Given the description of an element on the screen output the (x, y) to click on. 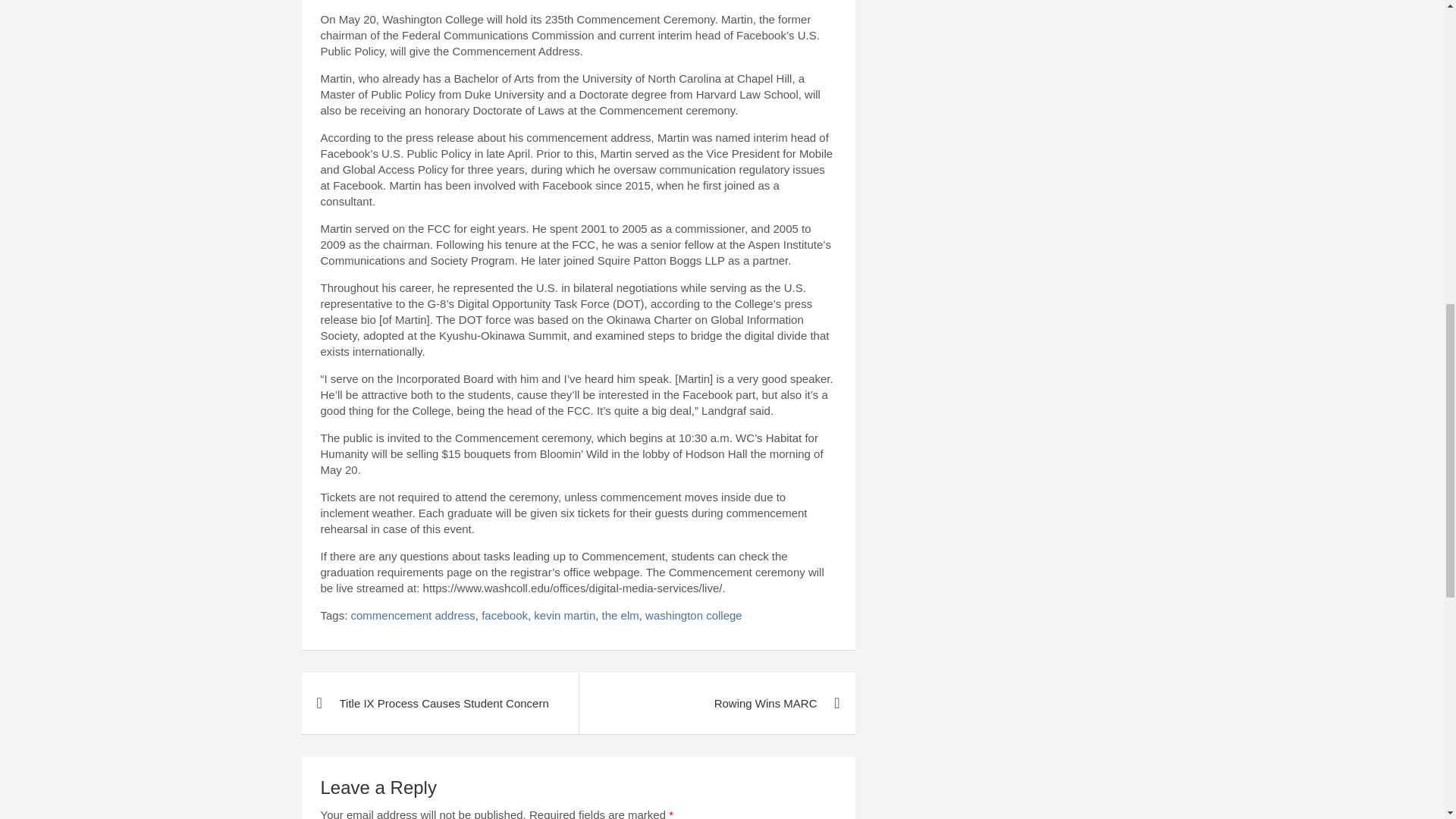
facebook (504, 615)
Rowing Wins MARC (716, 702)
kevin martin (564, 615)
Title IX Process Causes Student Concern (439, 702)
washington college (693, 615)
commencement address (413, 615)
the elm (620, 615)
